Given the description of an element on the screen output the (x, y) to click on. 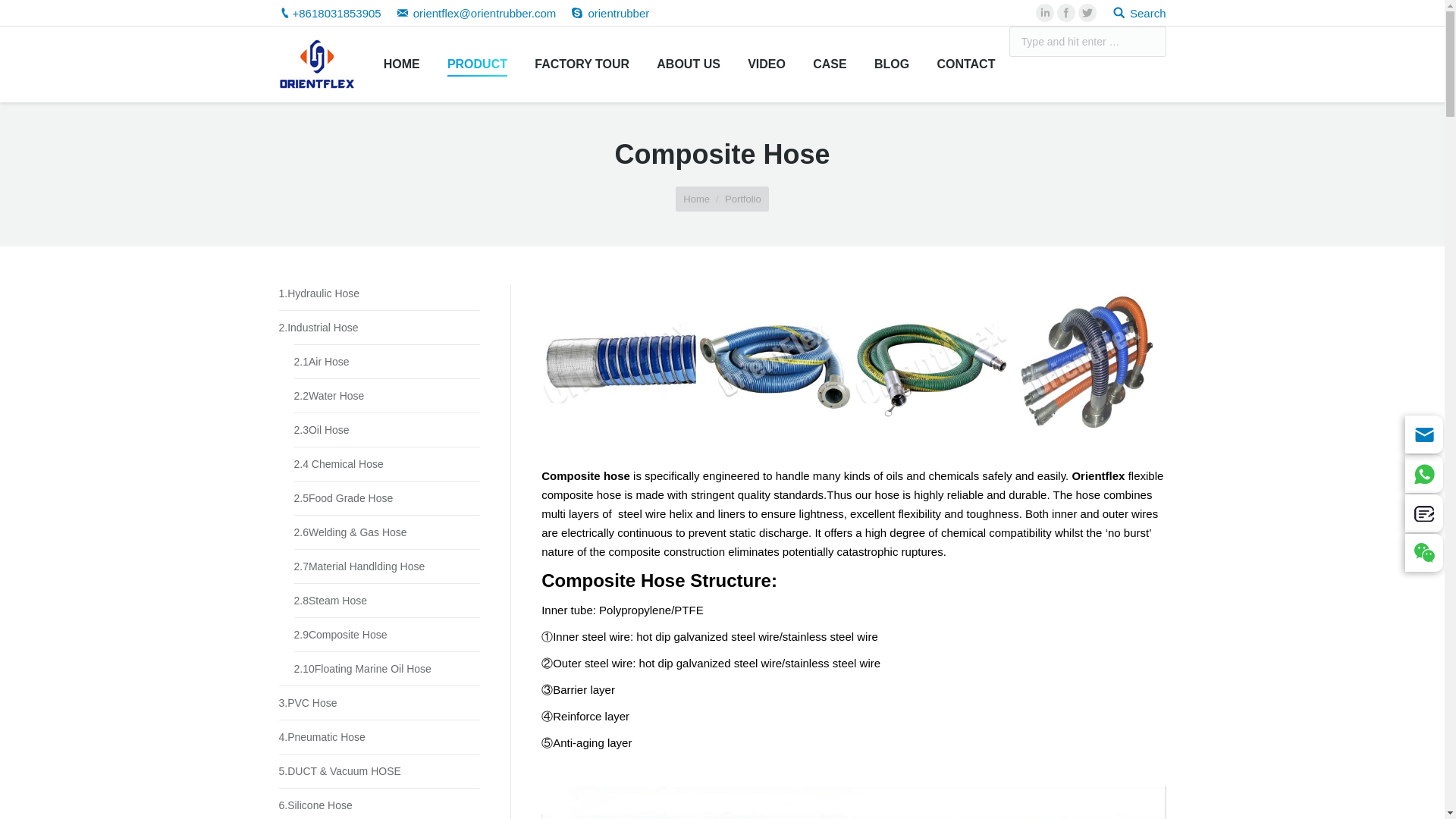
PRODUCT (477, 64)
Go! (1185, 42)
composite hose (931, 362)
Search (1139, 12)
Linkedin (1044, 13)
Go! (19, 15)
composite hose (931, 361)
HOME (400, 64)
Facebook (1066, 13)
Go! (1185, 42)
composite hose-1 (618, 361)
Twitter (1087, 13)
composite hose-1 (619, 362)
